Given the description of an element on the screen output the (x, y) to click on. 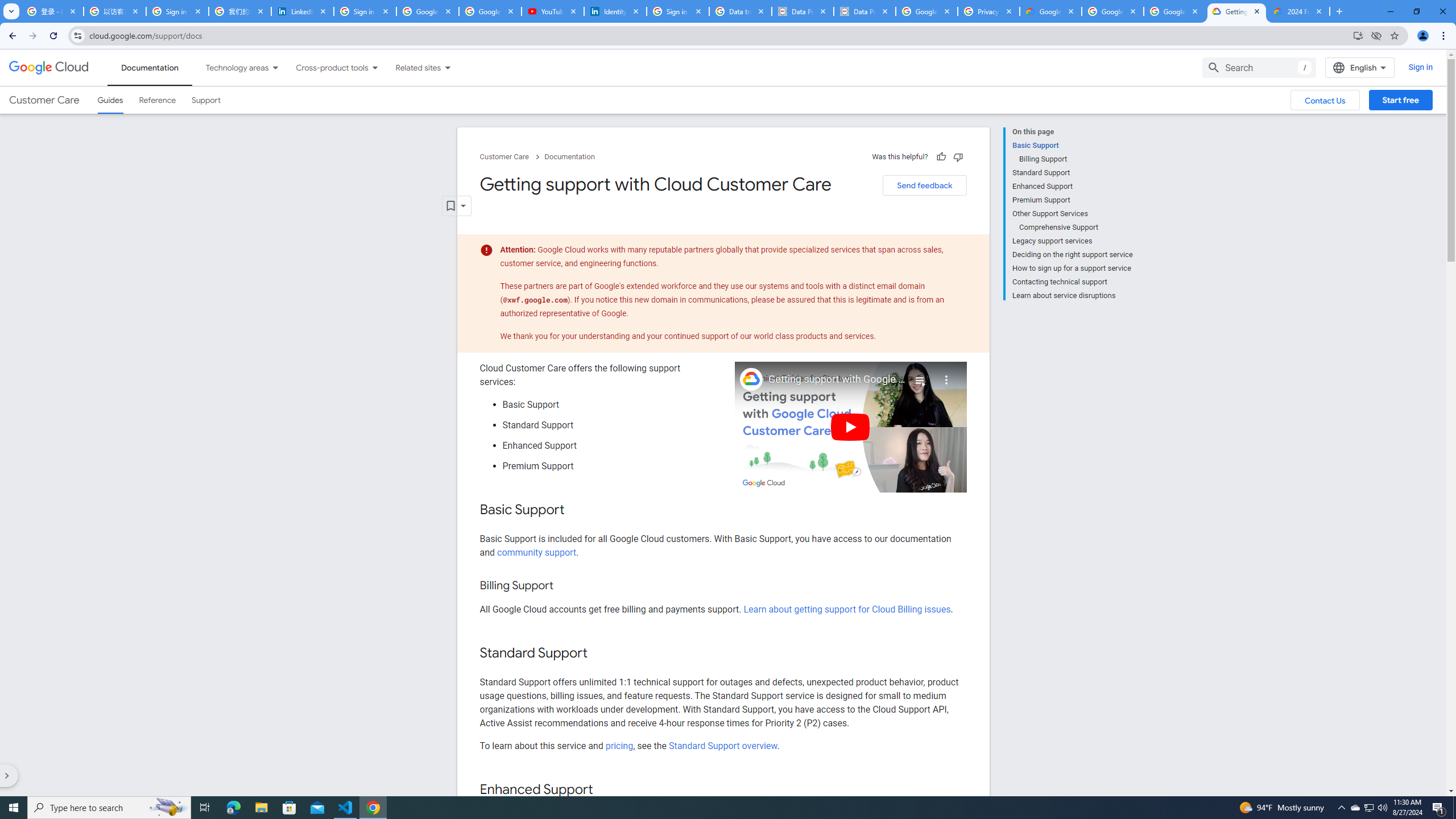
English (1359, 67)
Enhanced Support (1071, 186)
Customer Care chevron_right (511, 156)
Copy link to this section: Standard Support (599, 653)
Other Support Services (1071, 213)
Contact Us (1324, 100)
Reference (157, 99)
Google Cloud Terms Directory | Google Cloud (1050, 11)
Learn about service disruptions (1071, 294)
